Given the description of an element on the screen output the (x, y) to click on. 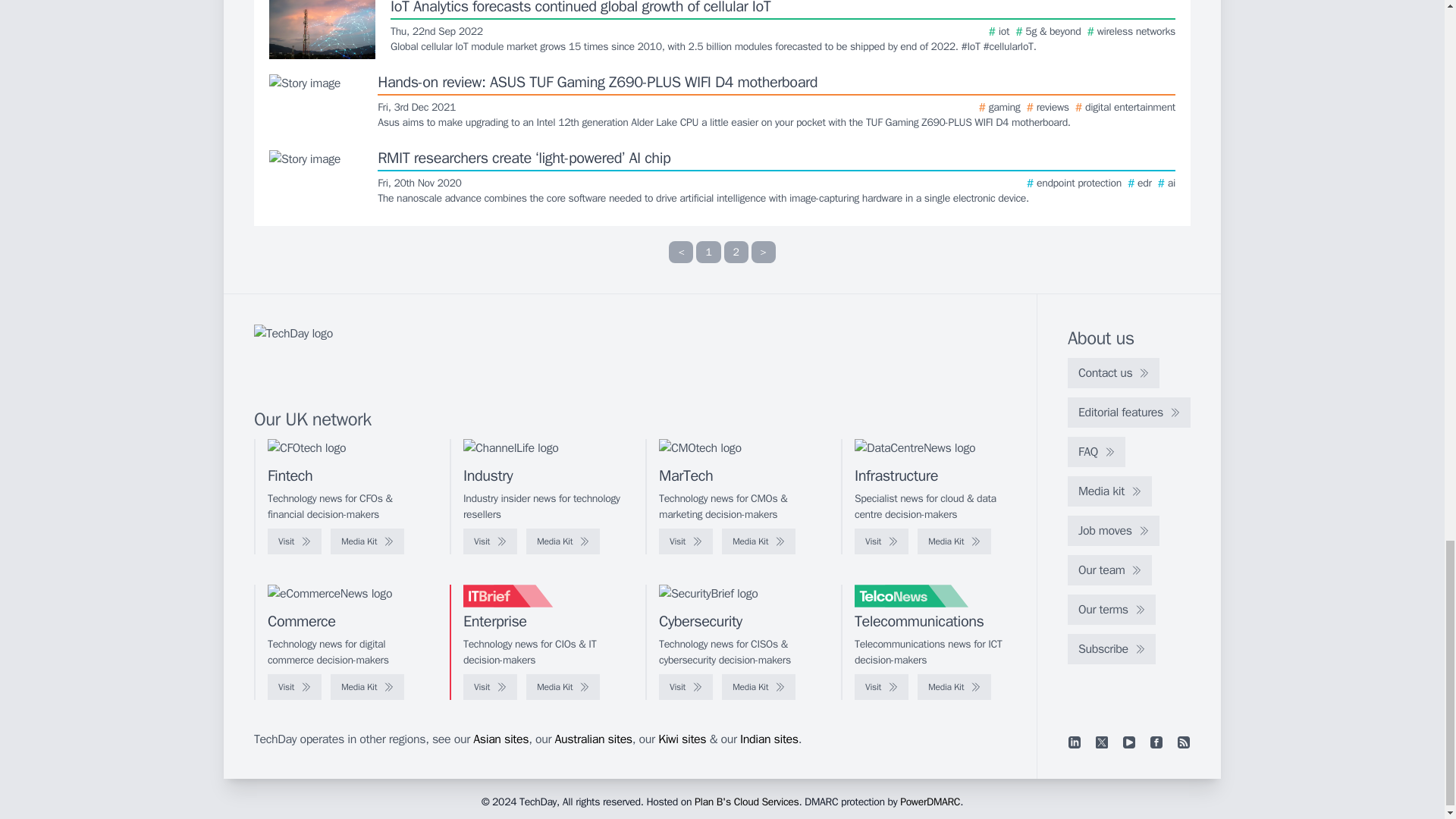
Media Kit (367, 541)
Visit (489, 541)
2 (735, 251)
Media Kit (562, 541)
Visit (294, 541)
1 (707, 251)
